Given the description of an element on the screen output the (x, y) to click on. 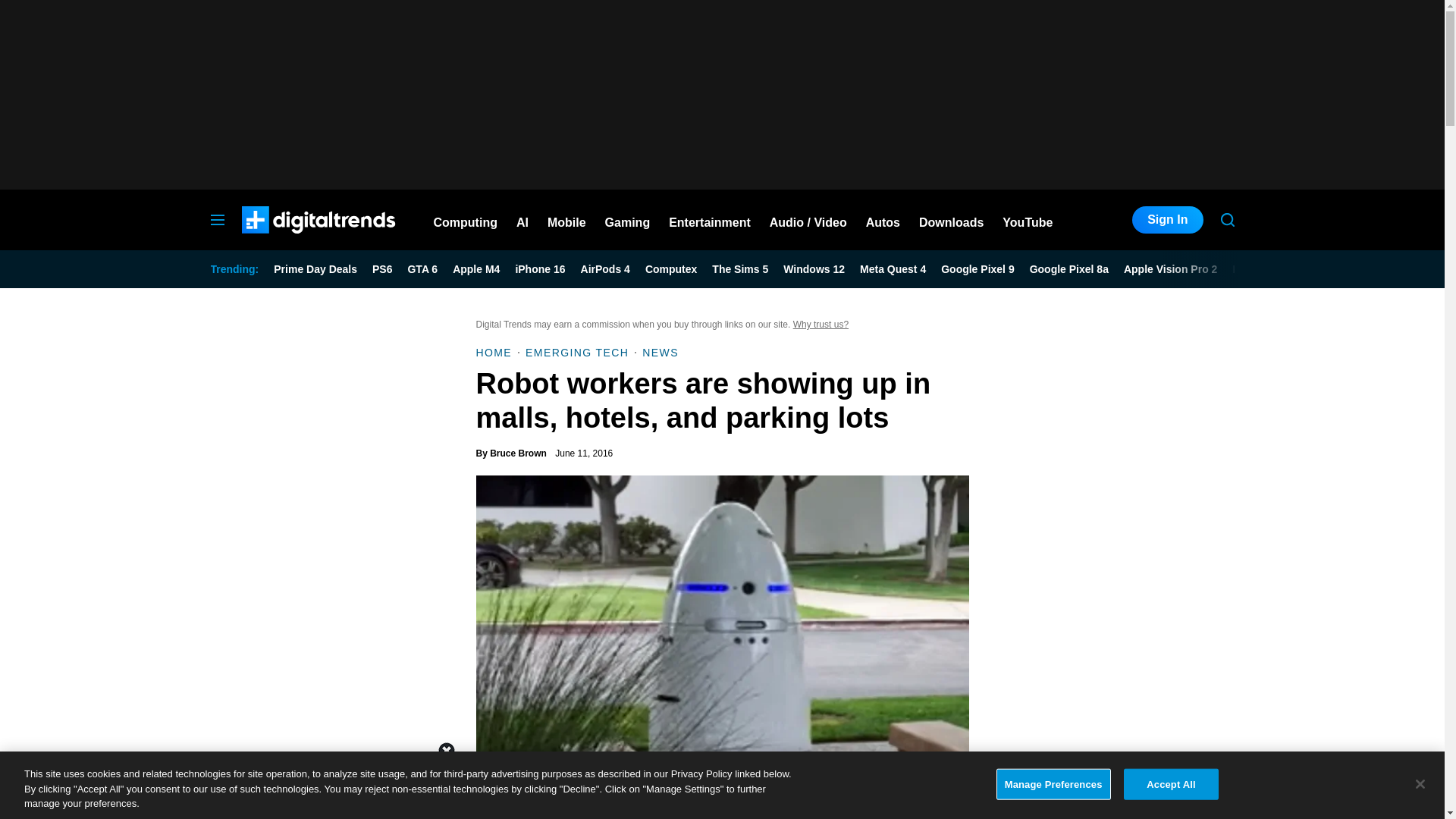
Gaming (627, 219)
Entertainment (709, 219)
Downloads (951, 219)
Autos (882, 219)
YouTube (1027, 219)
3rd party ad content (721, 785)
AI (522, 219)
Mobile (566, 219)
3rd party ad content (1120, 702)
Computing (465, 219)
Sign In (1167, 219)
